Given the description of an element on the screen output the (x, y) to click on. 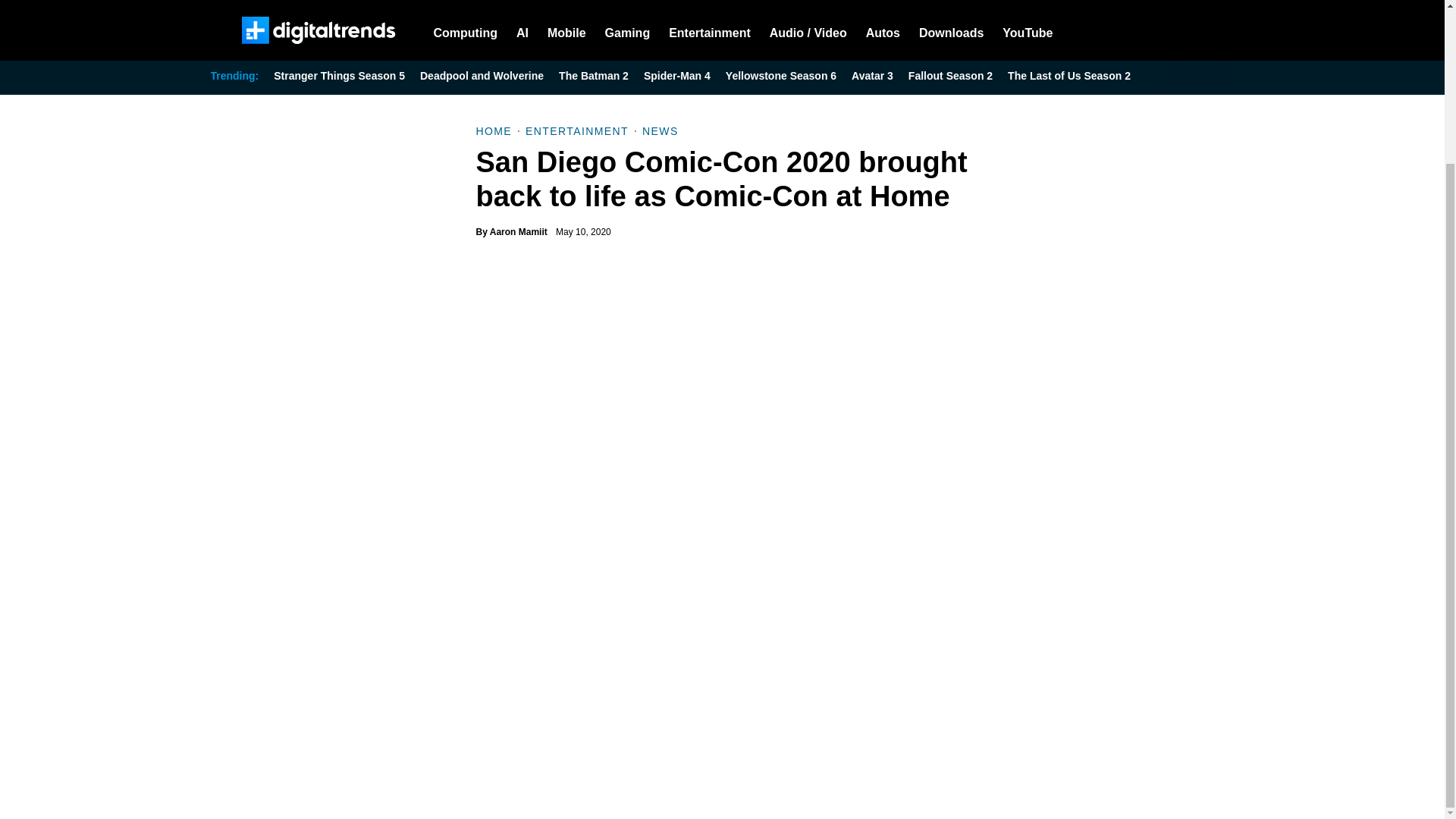
Downloads (951, 28)
Autos (882, 28)
YouTube (1027, 28)
Computing (465, 28)
Entertainment (709, 28)
Gaming (627, 28)
Mobile (566, 28)
AI (522, 28)
